Given the description of an element on the screen output the (x, y) to click on. 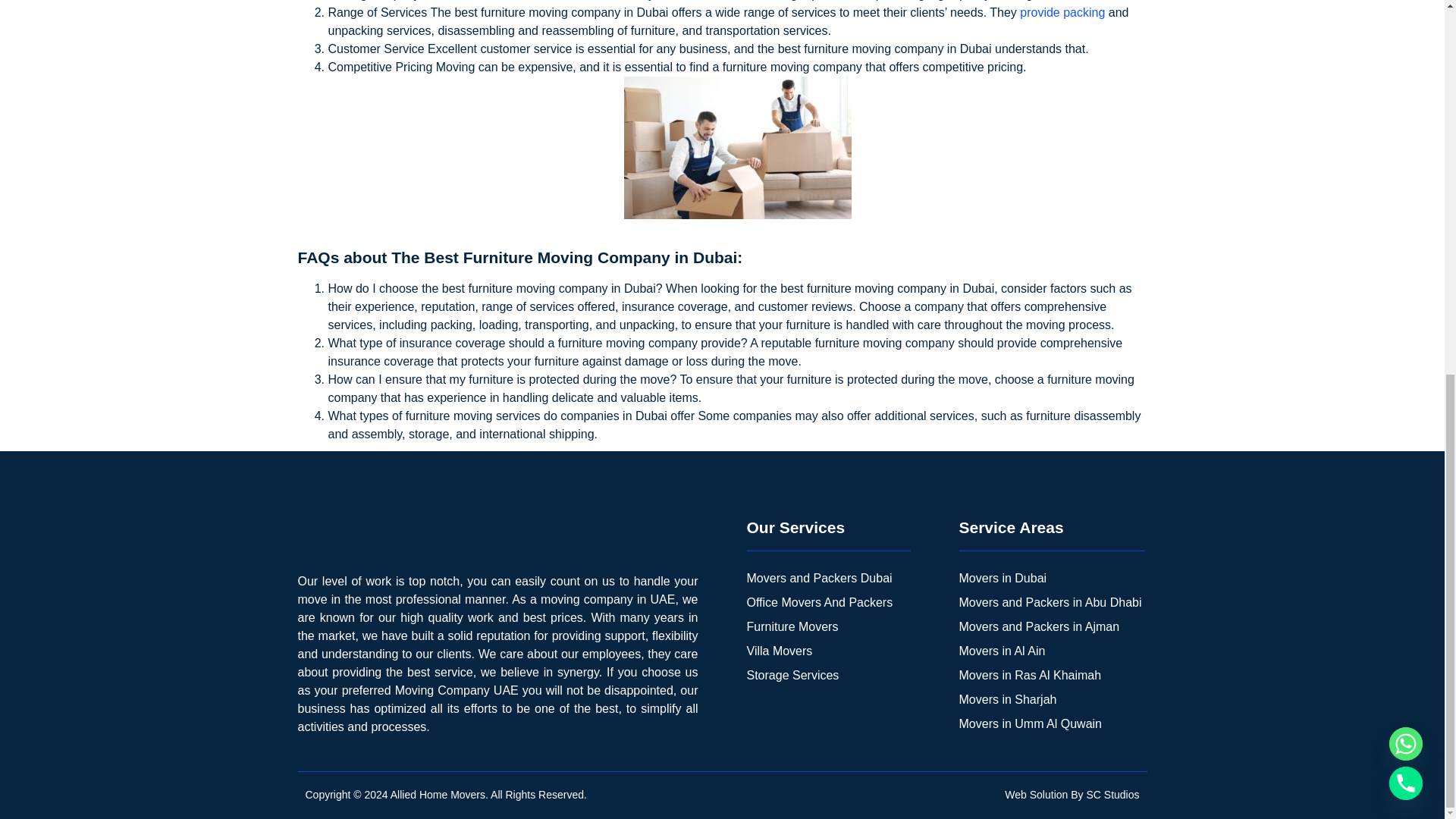
Movers and Packers Dubai (827, 578)
provide packing (1062, 11)
Office Movers And Packers (827, 602)
